Given the description of an element on the screen output the (x, y) to click on. 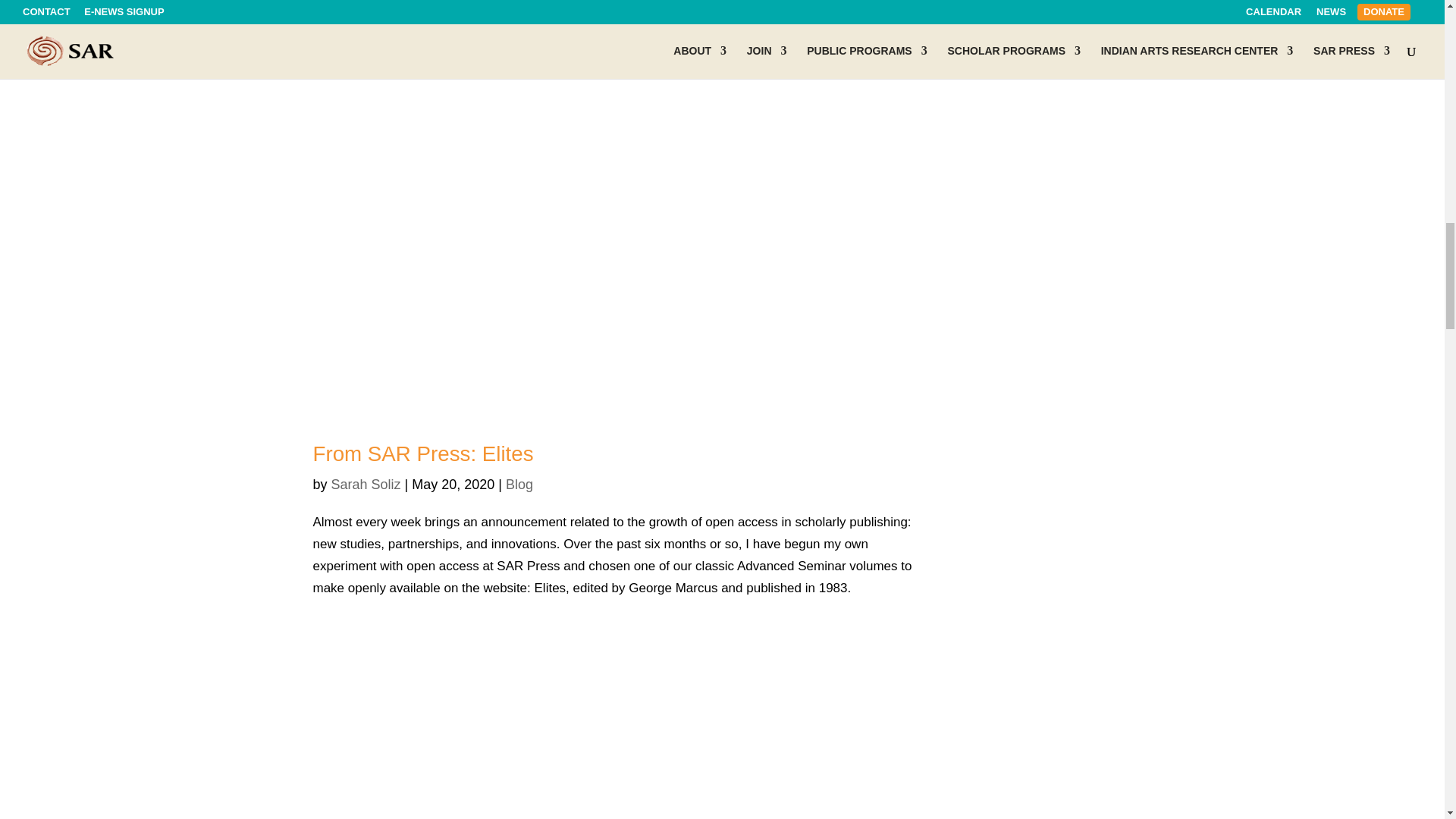
Posts by Sarah Soliz (366, 484)
